Given the description of an element on the screen output the (x, y) to click on. 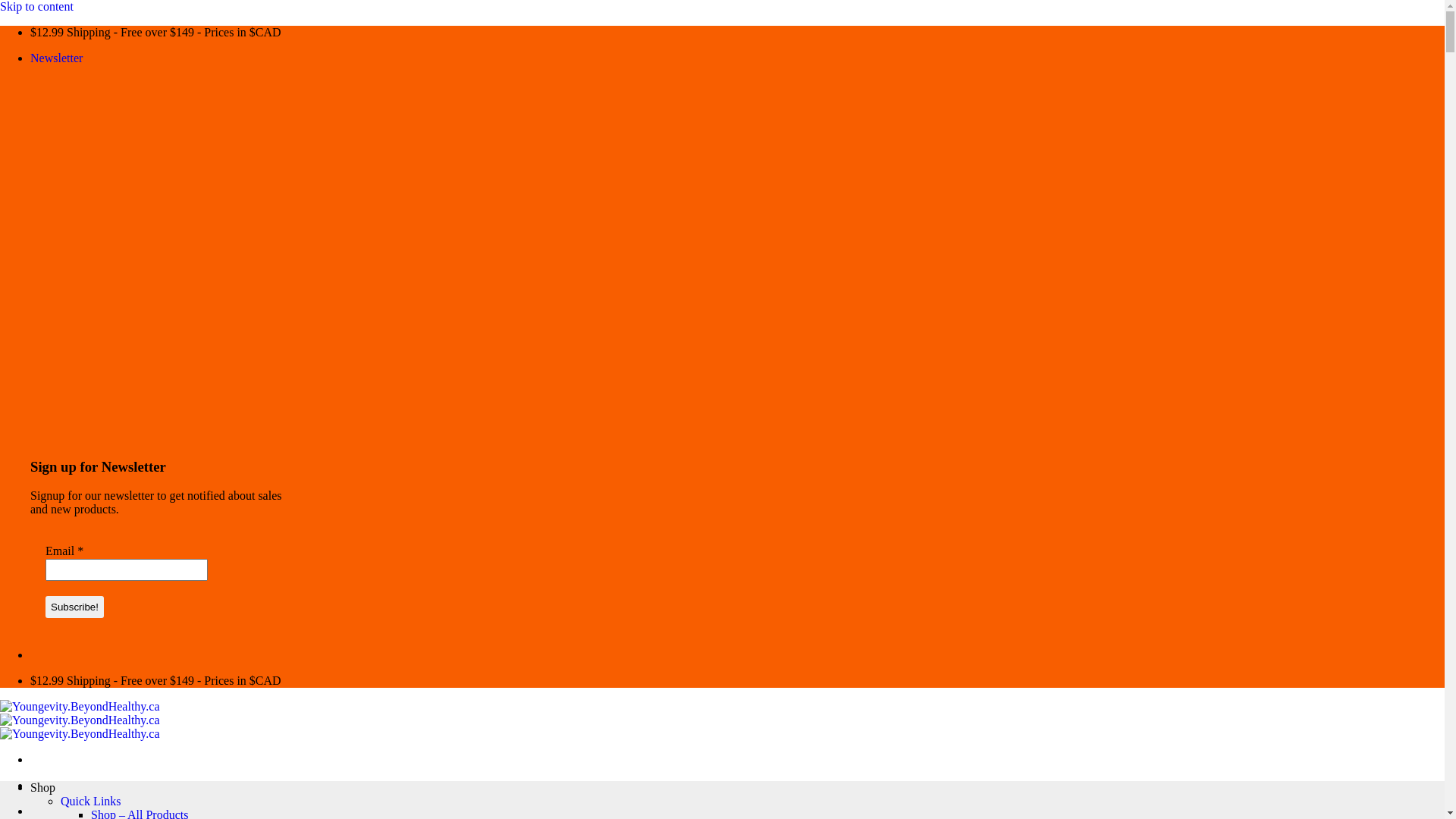
Subscribe! Element type: text (74, 607)
Newsletter Element type: text (56, 57)
Quick Links Element type: text (90, 800)
Skip to content Element type: text (36, 6)
Shop Element type: text (42, 787)
Email Element type: hover (126, 569)
